Given the description of an element on the screen output the (x, y) to click on. 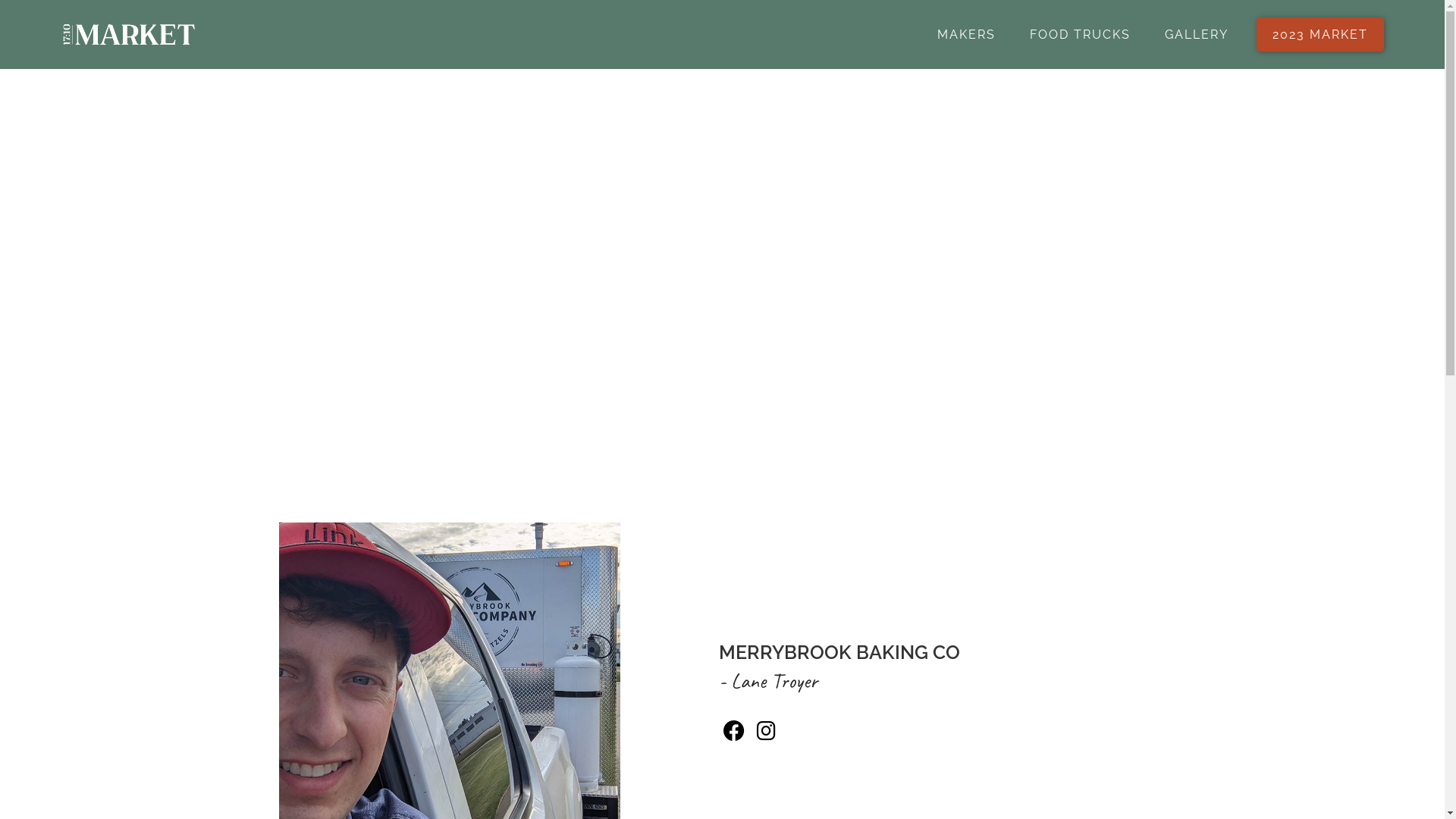
FOOD TRUCKS Element type: text (1079, 33)
2023 MARKET Element type: text (1319, 34)
MAKERS Element type: text (966, 33)
GALLERY Element type: text (1196, 33)
